Given the description of an element on the screen output the (x, y) to click on. 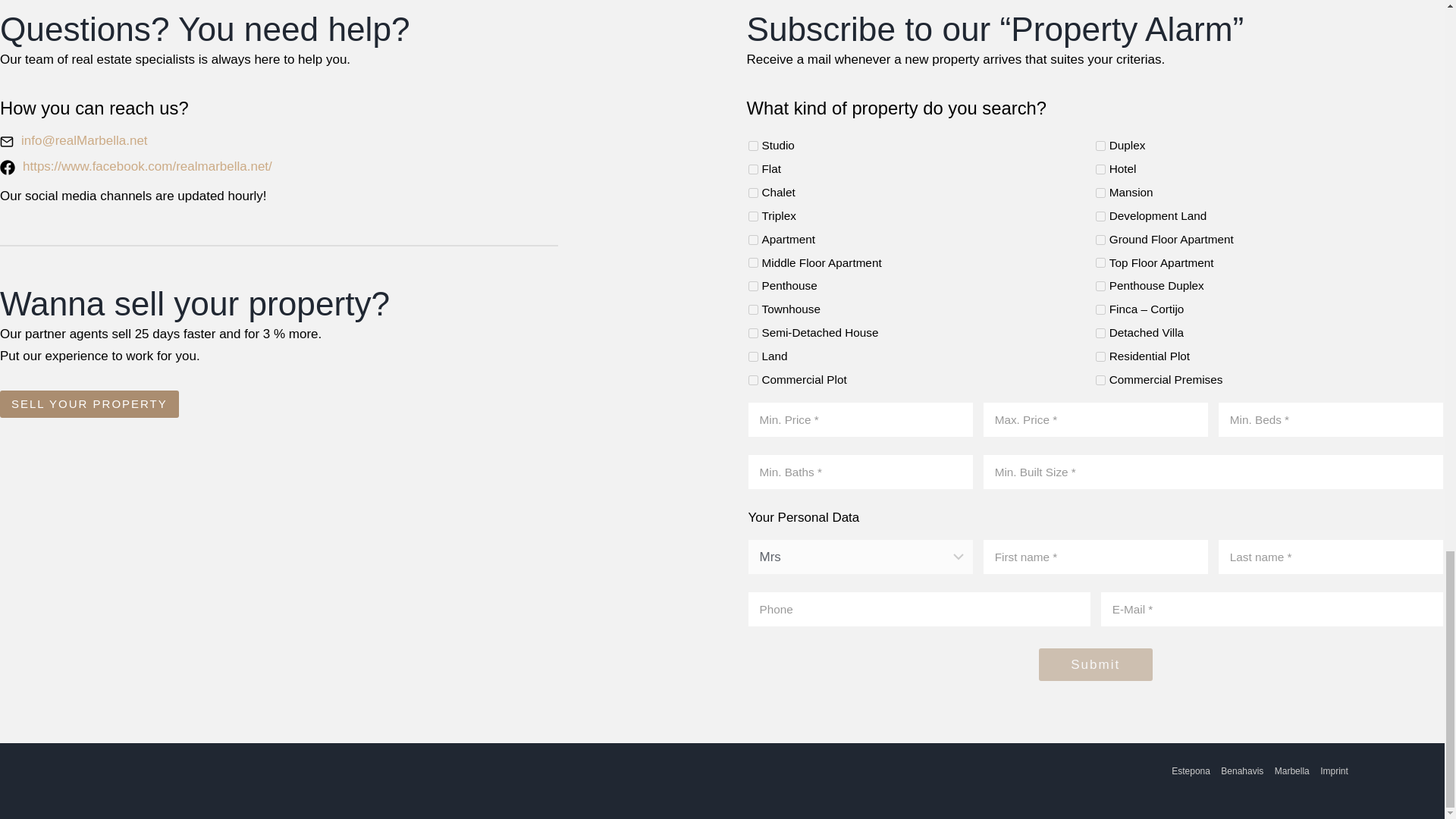
2091 (1100, 216)
803 (752, 262)
733 (752, 333)
757 (752, 356)
756 (1100, 286)
730 (1100, 333)
2076 (1100, 193)
2080 (752, 216)
1969 (752, 145)
797 (1100, 262)
839 (1100, 356)
2073 (1100, 169)
773 (1100, 309)
1981 (1100, 145)
2074 (752, 193)
